Given the description of an element on the screen output the (x, y) to click on. 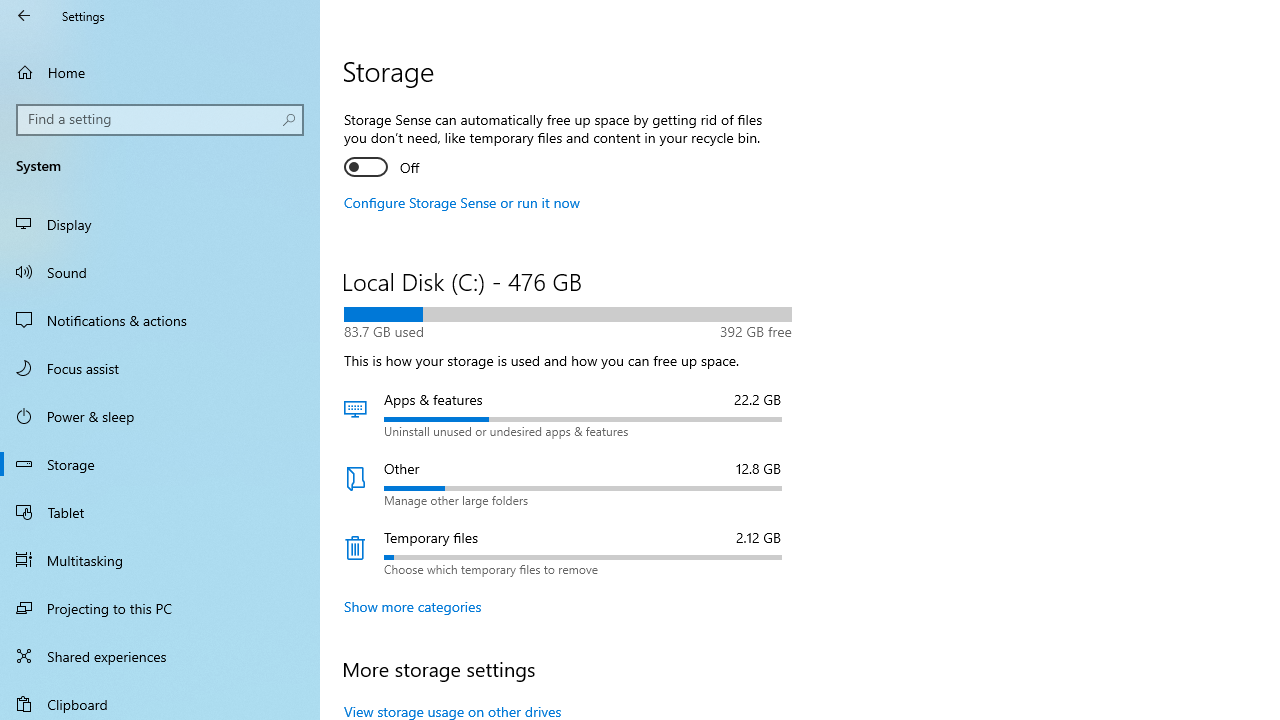
Apps & features (568, 414)
Multitasking (160, 559)
Temporary files (568, 551)
Display (160, 223)
Configure Storage Sense or run it now (461, 201)
Back (24, 15)
Home (160, 71)
